Given the description of an element on the screen output the (x, y) to click on. 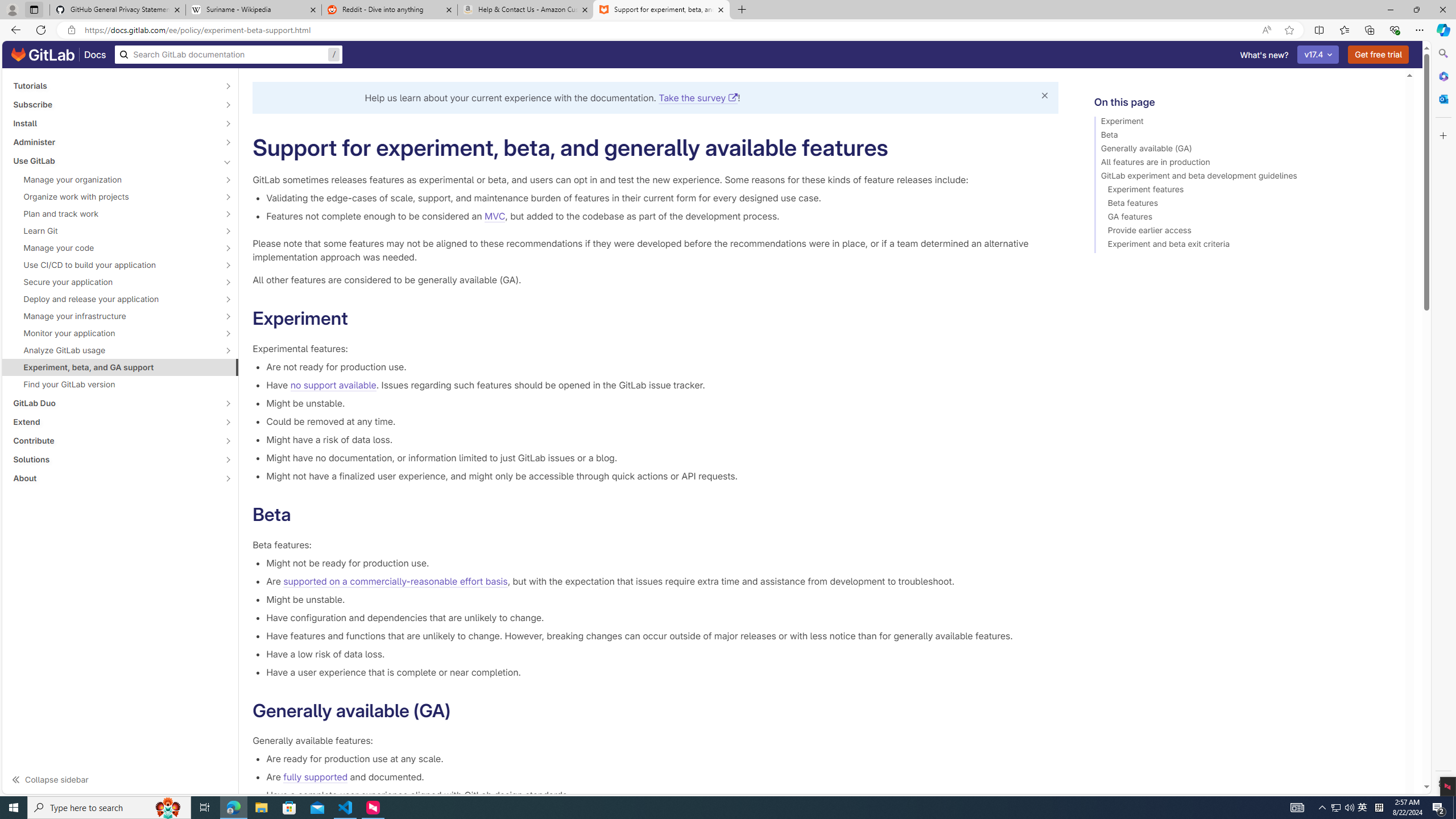
Organize work with projects (113, 196)
Beta (1244, 136)
All features are in production (1244, 164)
Suriname - Wikipedia (253, 9)
Have a user experience that is complete or near completion. (662, 671)
no support available (333, 384)
Dismiss (1043, 95)
Manage your code (113, 247)
GitLab Duo (113, 402)
